Given the description of an element on the screen output the (x, y) to click on. 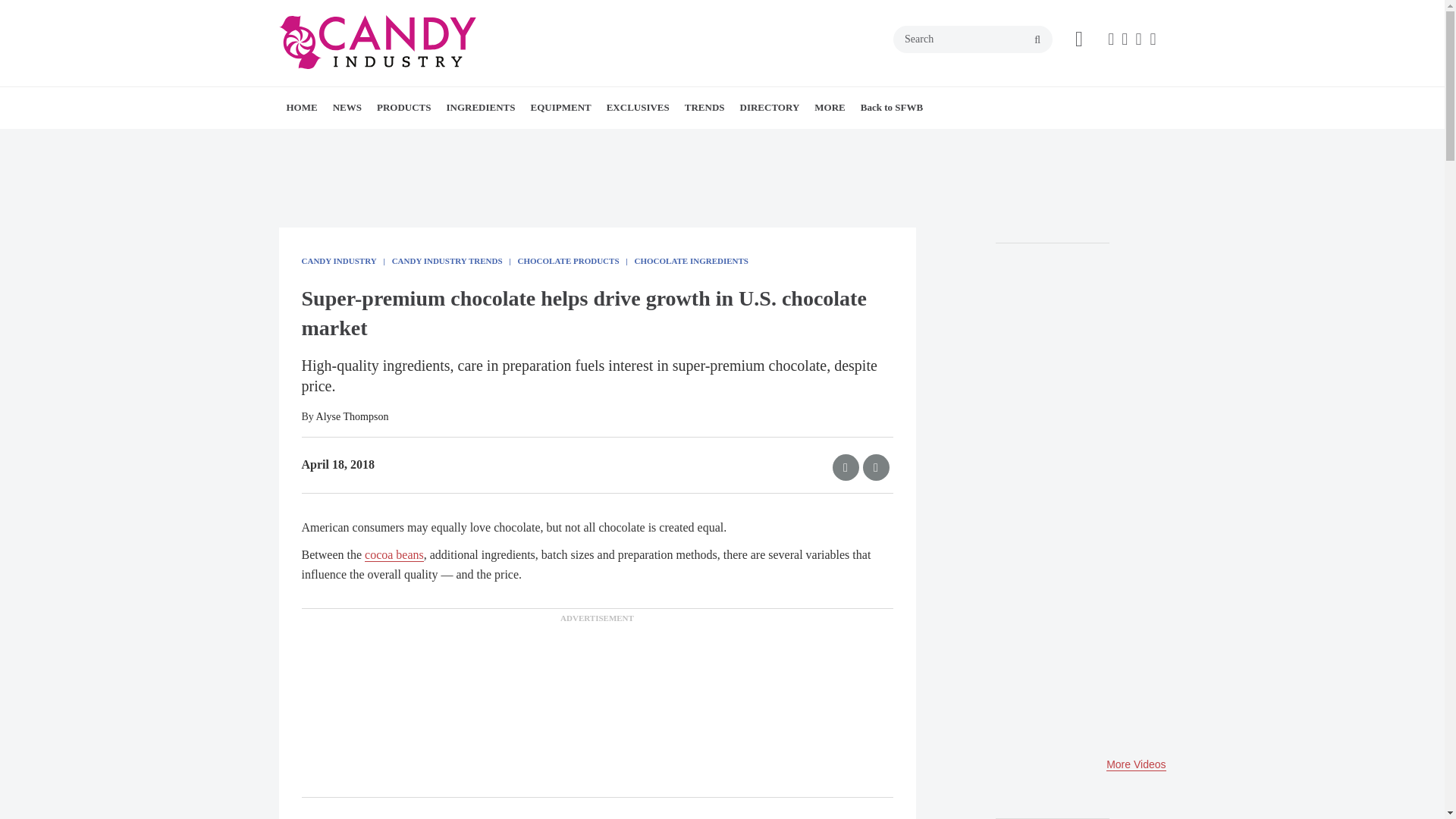
INGREDIENTS (480, 106)
FUNCTIONAL (560, 140)
search (1037, 39)
PACKAGING (624, 140)
NEWS (346, 106)
cart (1079, 38)
SWEETENERS (532, 140)
EXCLUSIVES (637, 106)
Search (972, 39)
youtube (1153, 39)
SWEET 60 (699, 140)
NEW PRODUCTS (471, 140)
EQUIPMENT (560, 106)
LICORICE (491, 140)
HOME (301, 106)
